Given the description of an element on the screen output the (x, y) to click on. 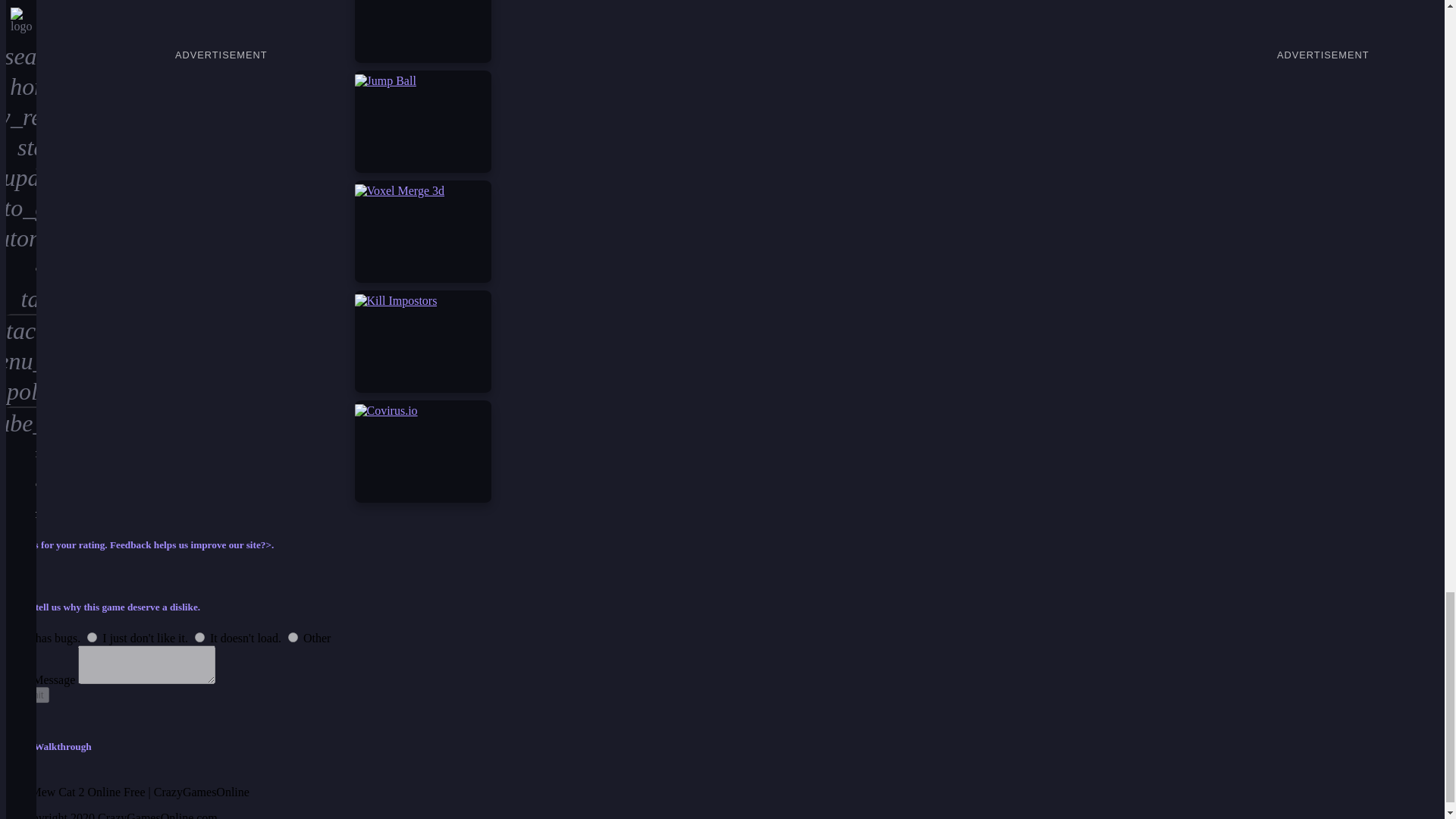
I just don't like it. (92, 637)
Other (293, 637)
It doesn't load. (200, 637)
It has bugs. (15, 637)
